Given the description of an element on the screen output the (x, y) to click on. 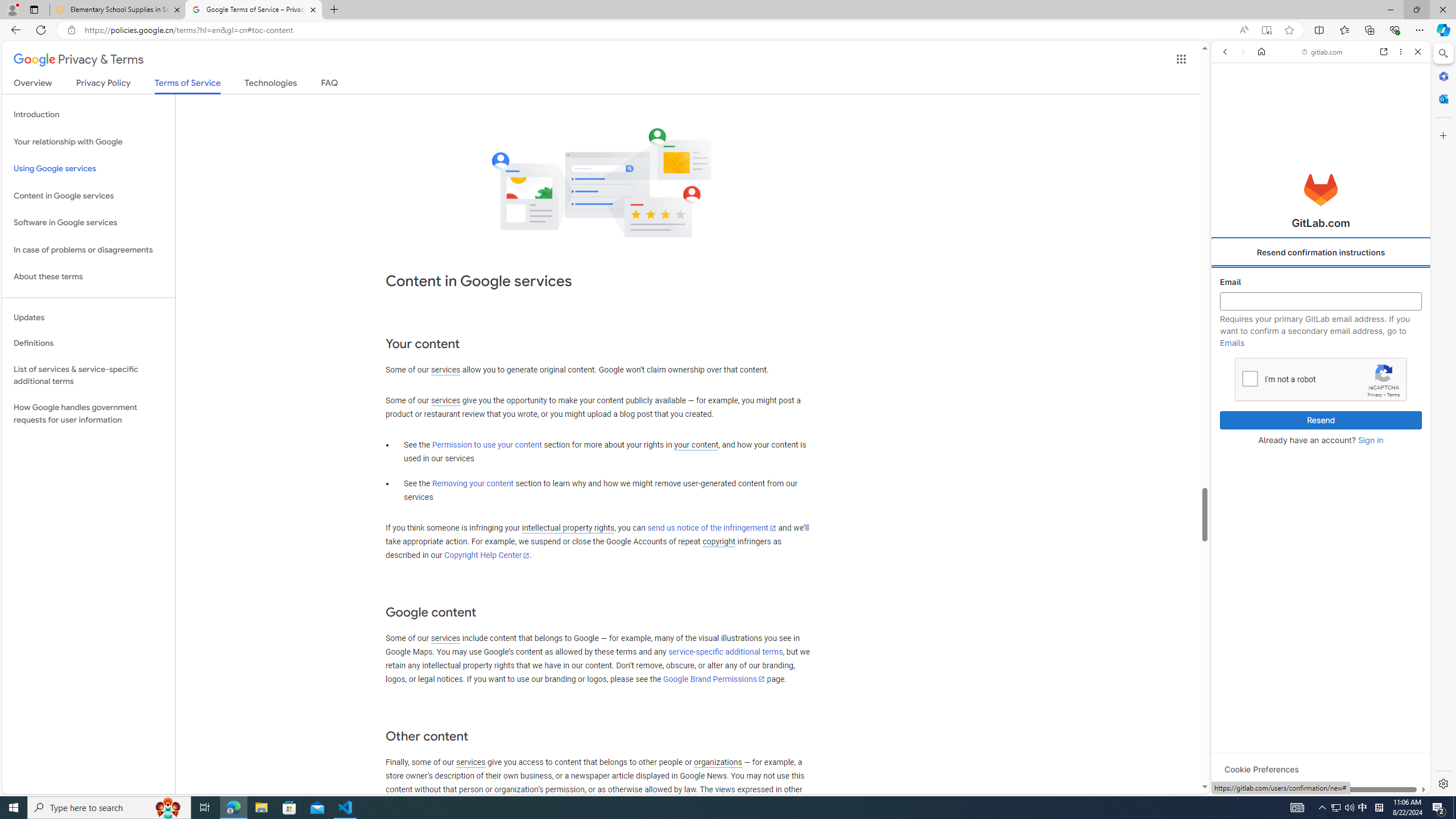
Back (1225, 51)
Forward (1242, 51)
App bar (728, 29)
Minimize (1390, 9)
Email (1321, 301)
Outlook (1442, 98)
